Given the description of an element on the screen output the (x, y) to click on. 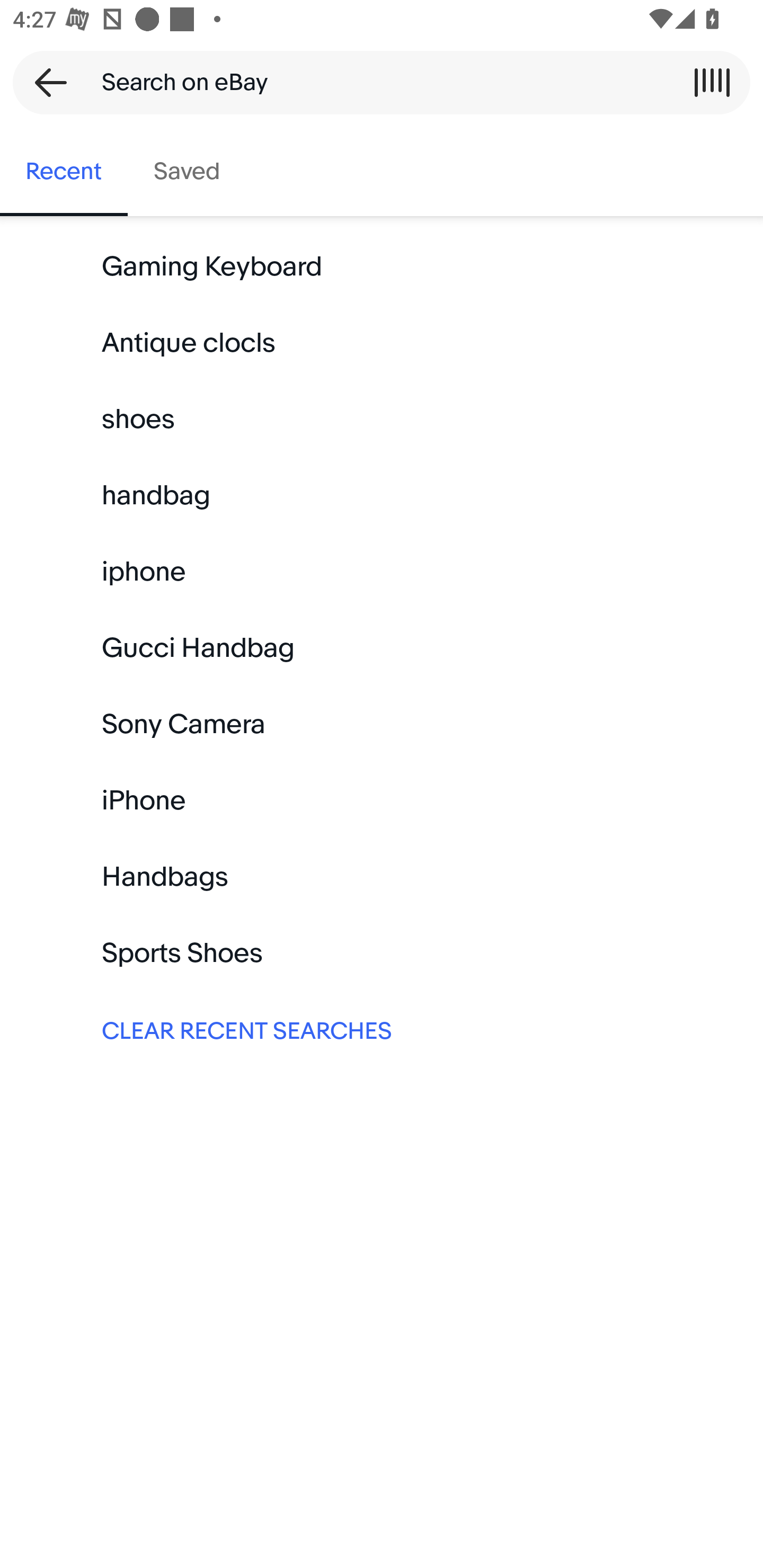
Back (44, 82)
Scan a barcode (711, 82)
Search on eBay (375, 82)
Saved, tab 2 of 2 Saved (186, 171)
Gaming Keyboard Keyword search Gaming Keyboard: (381, 266)
Antique clocls Keyword search Antique clocls: (381, 343)
shoes Keyword search shoes: (381, 419)
handbag Keyword search handbag: (381, 495)
iphone Keyword search iphone: (381, 571)
Gucci Handbag Keyword search Gucci Handbag: (381, 647)
Sony Camera Keyword search Sony Camera: (381, 724)
iPhone Keyword search iPhone: (381, 800)
Handbags Keyword search Handbags: (381, 876)
Sports Shoes Keyword search Sports Shoes: (381, 952)
CLEAR RECENT SEARCHES (381, 1028)
